Given the description of an element on the screen output the (x, y) to click on. 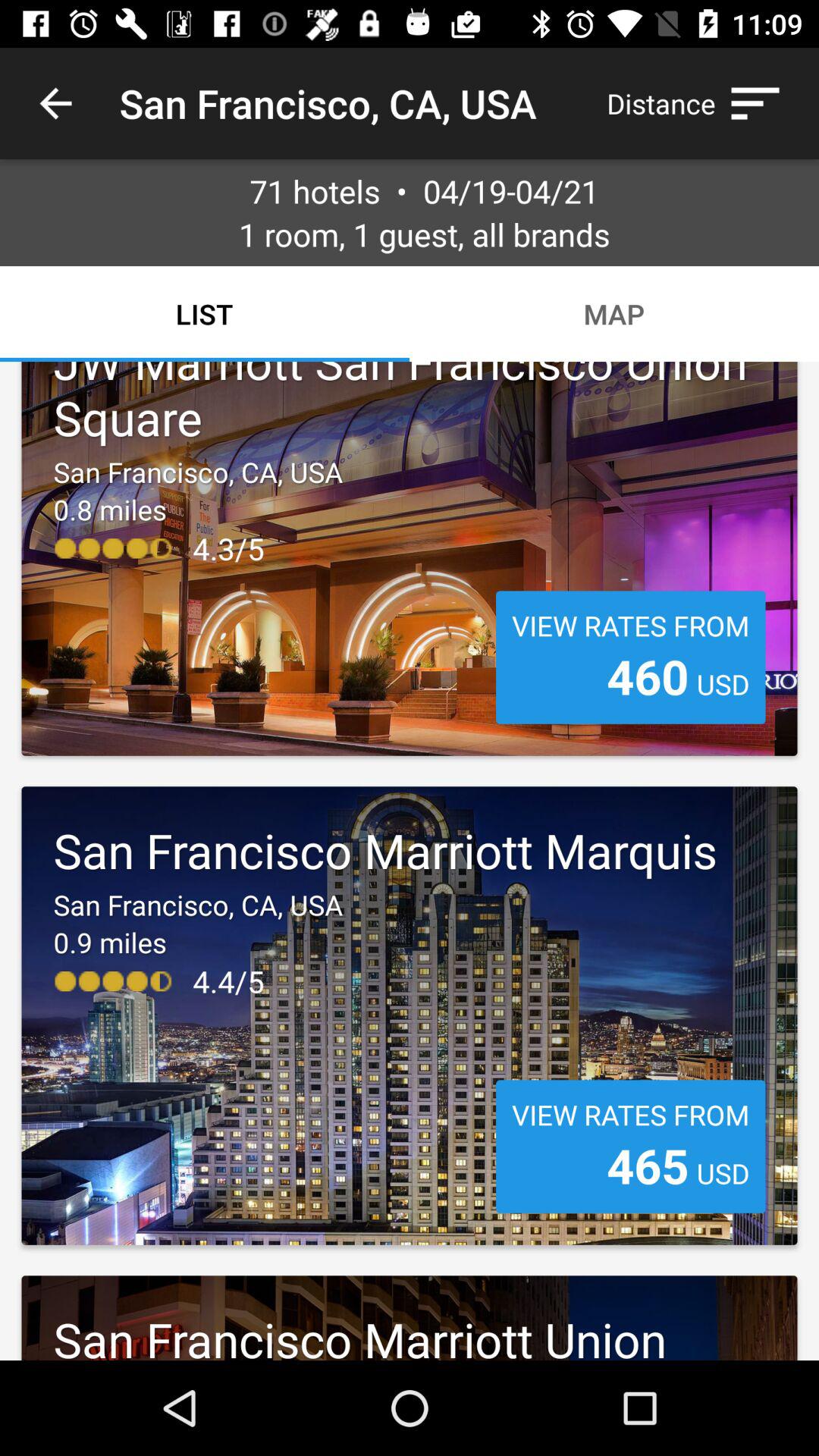
scroll until the 460 icon (647, 676)
